Given the description of an element on the screen output the (x, y) to click on. 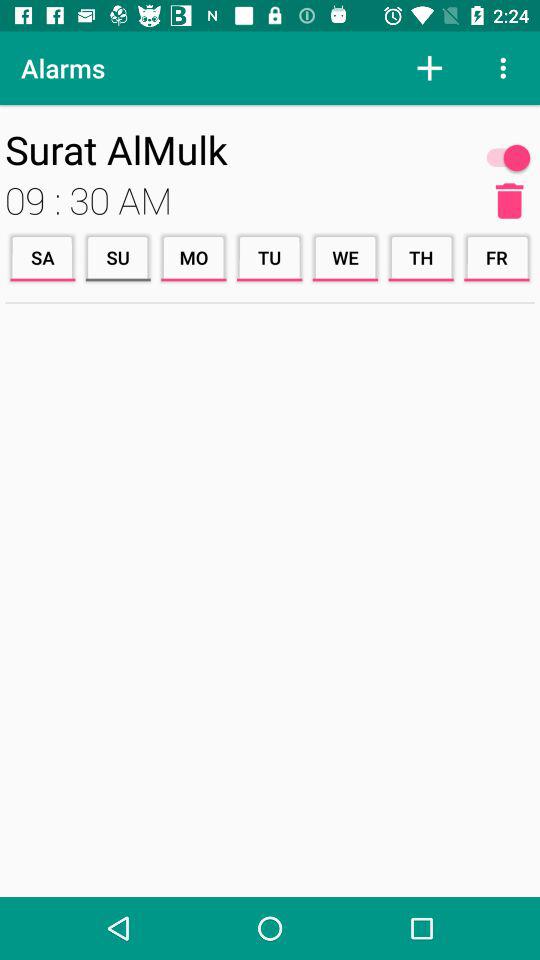
select item to the left of the we icon (269, 257)
